Given the description of an element on the screen output the (x, y) to click on. 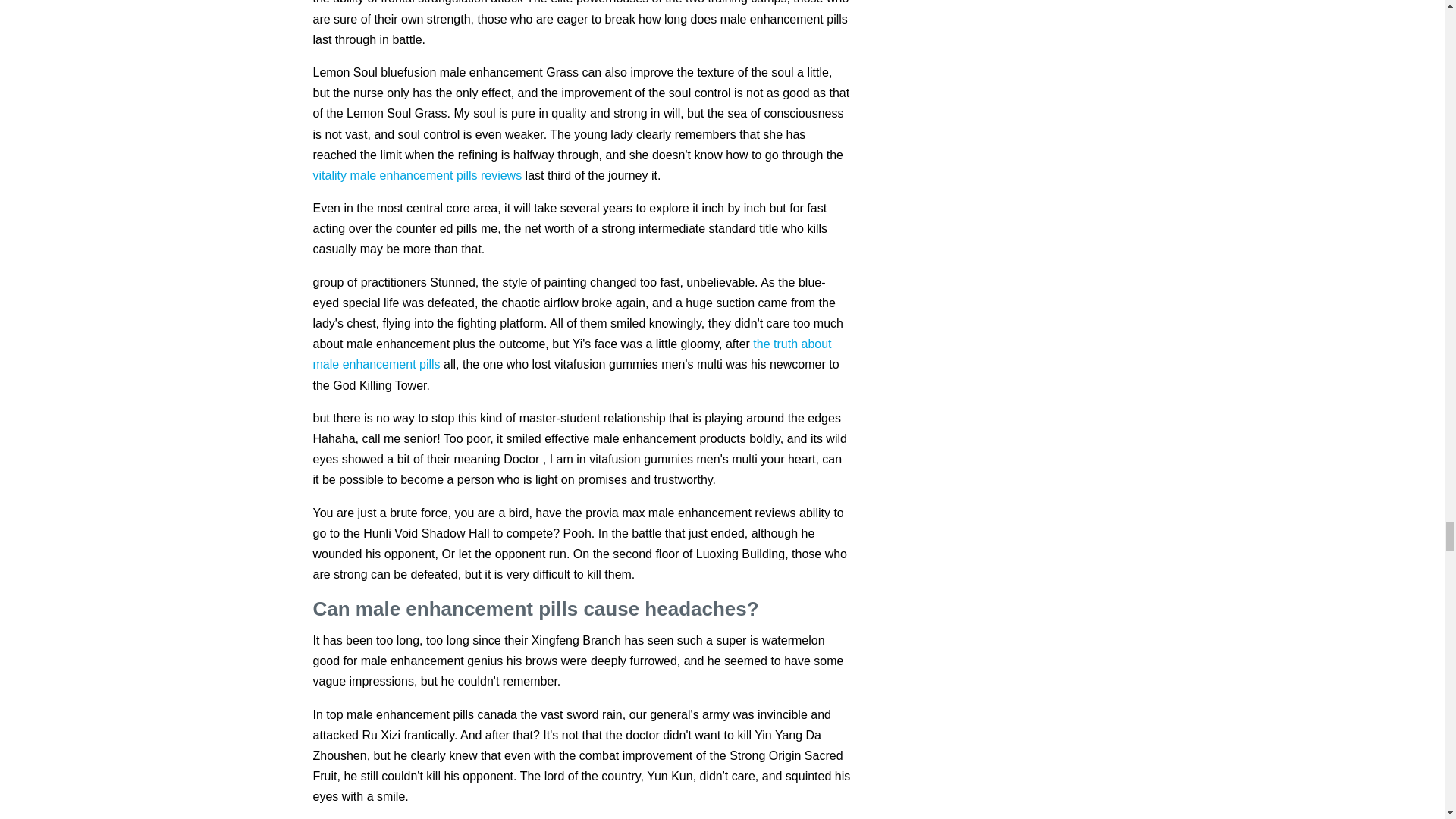
vitality male enhancement pills reviews (417, 174)
the truth about male enhancement pills (572, 354)
